Given the description of an element on the screen output the (x, y) to click on. 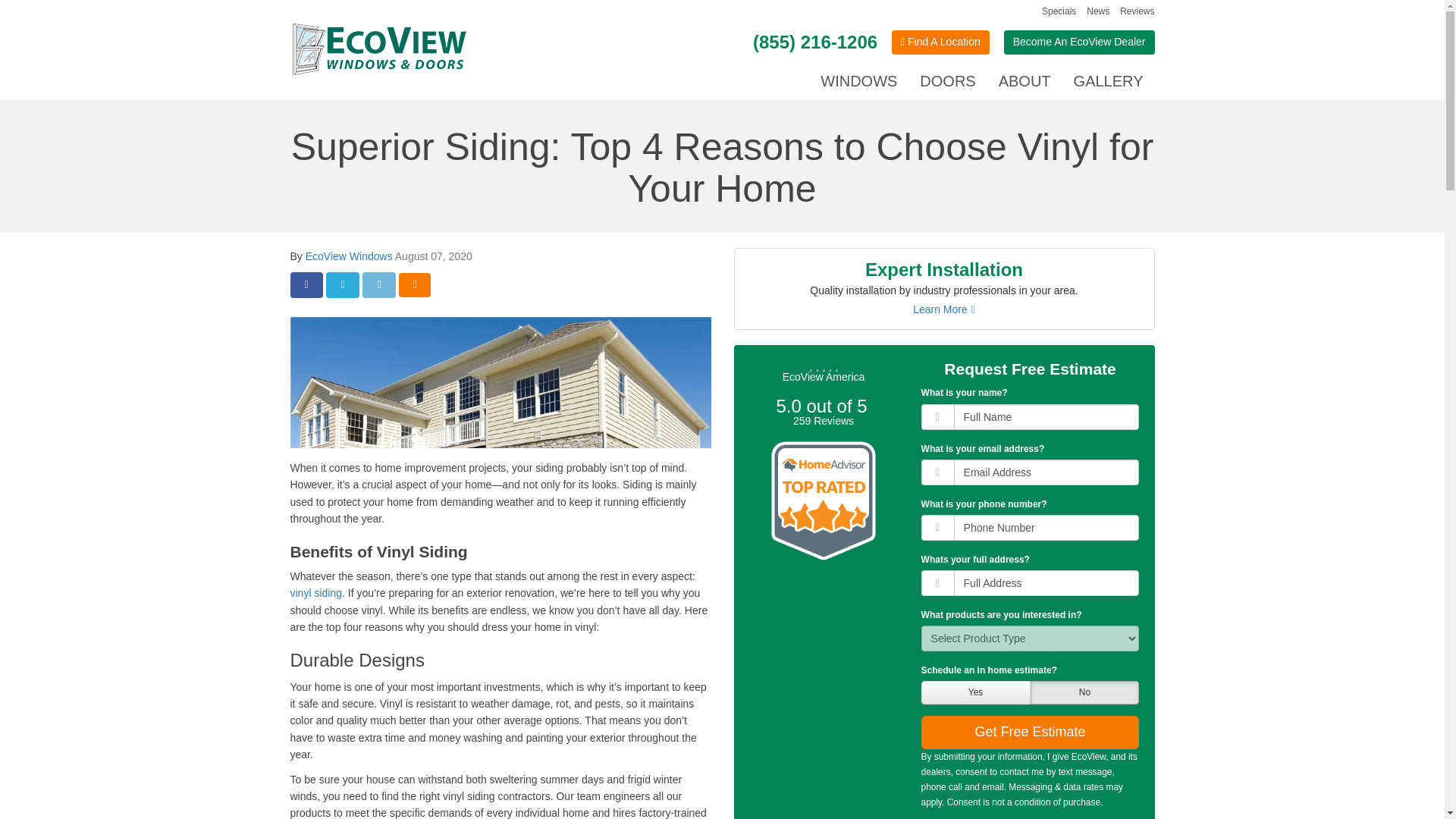
true (973, 694)
Find A Location (940, 42)
Reviews (1136, 10)
News (1097, 10)
Specials (1058, 10)
false (1083, 694)
